Given the description of an element on the screen output the (x, y) to click on. 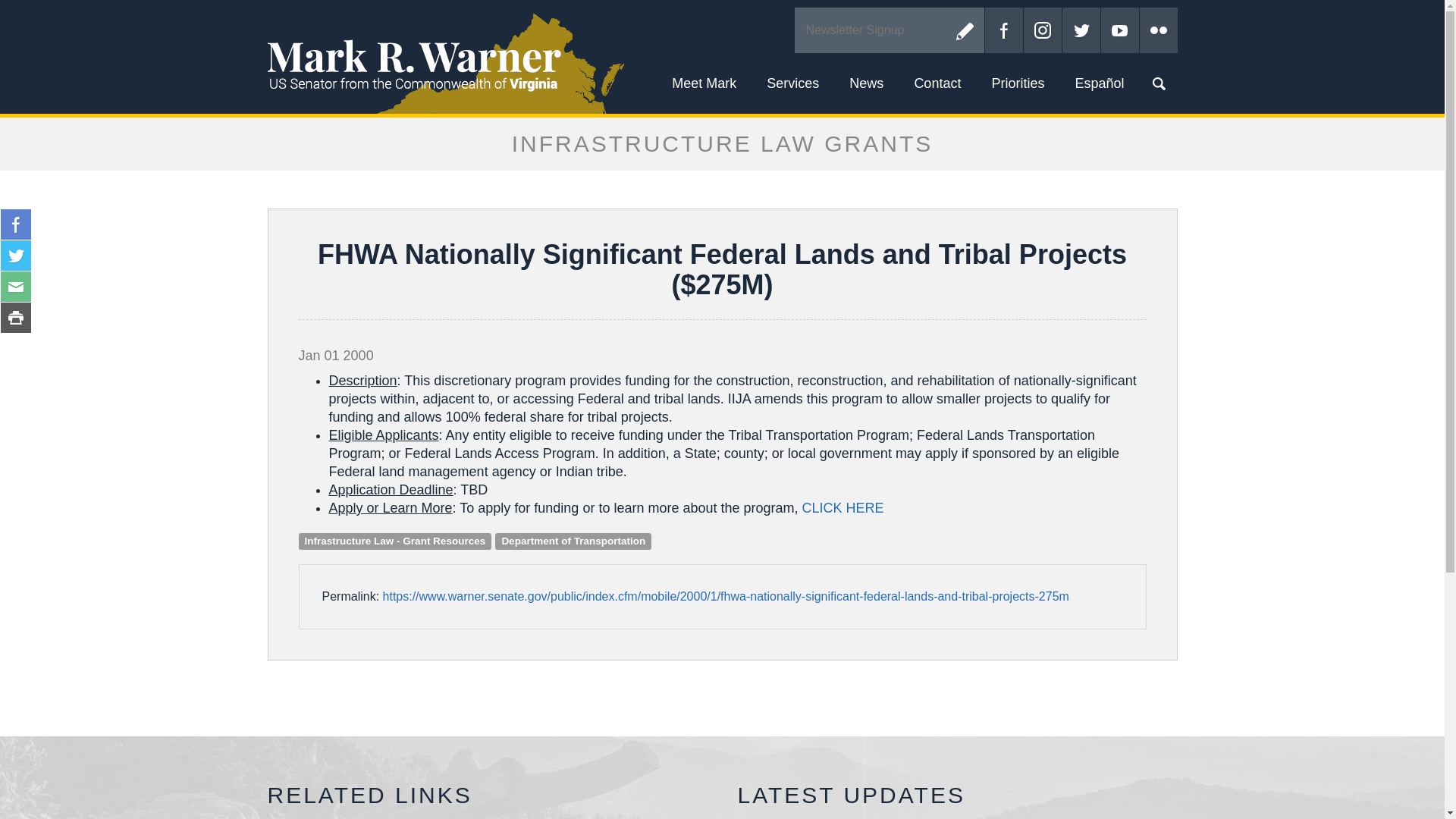
Priorities (1017, 83)
Services (792, 83)
Contact (936, 83)
Meet Mark (703, 83)
News (866, 83)
